Given the description of an element on the screen output the (x, y) to click on. 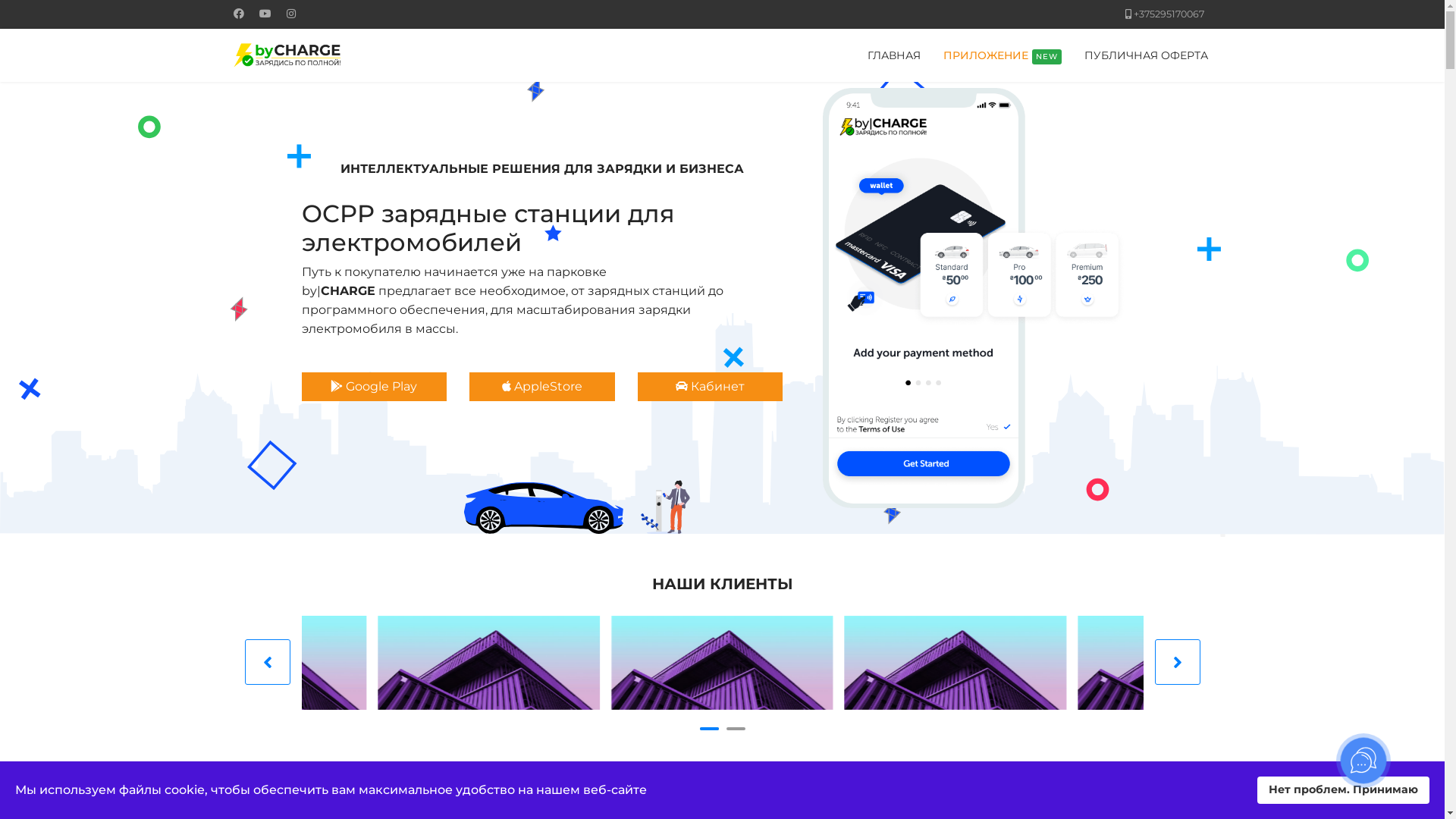
Google Play Element type: text (374, 386)
+375295170067 Element type: text (1167, 13)
AppleStore Element type: text (542, 386)
